Given the description of an element on the screen output the (x, y) to click on. 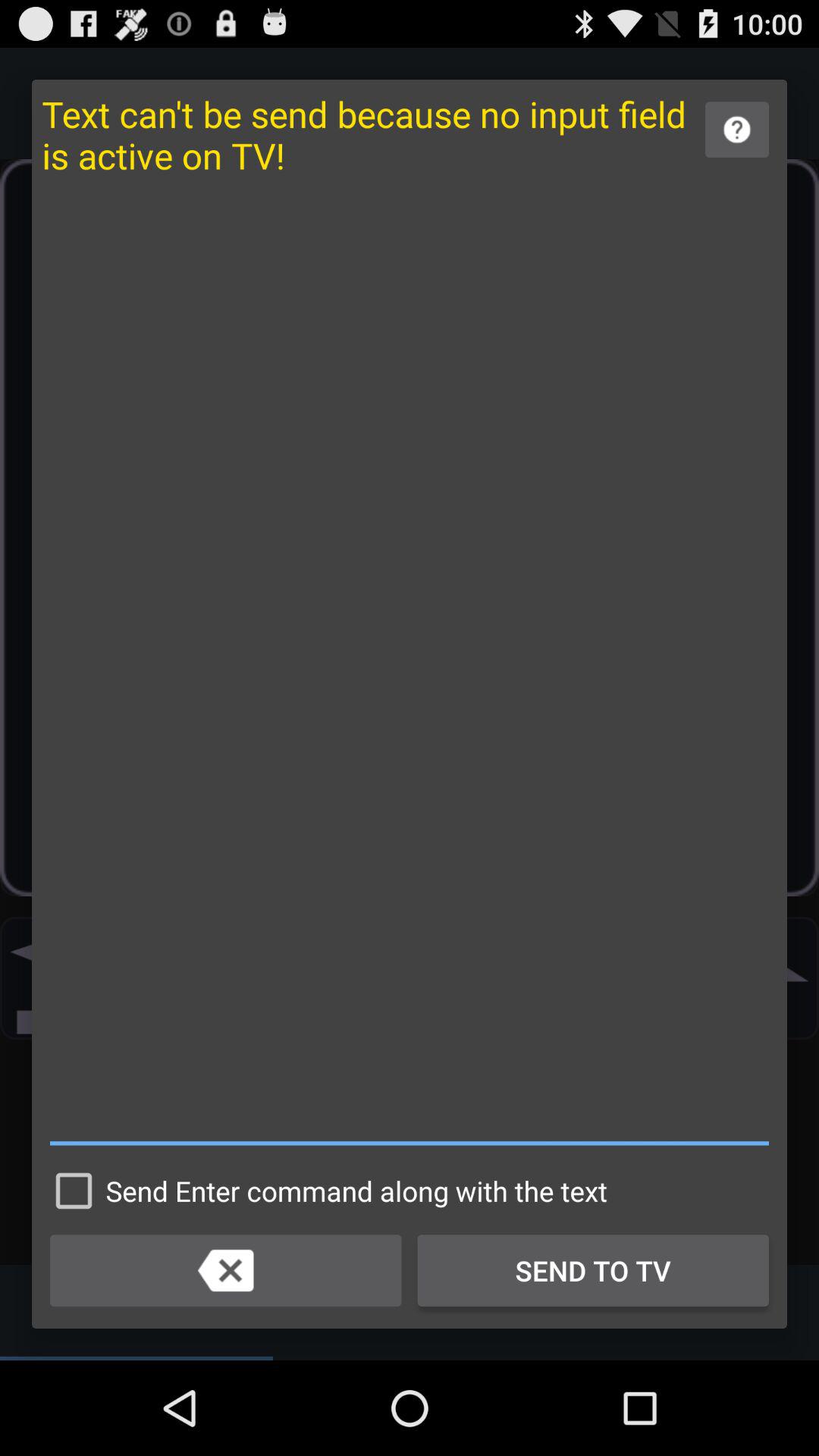
tap item (409, 669)
